Given the description of an element on the screen output the (x, y) to click on. 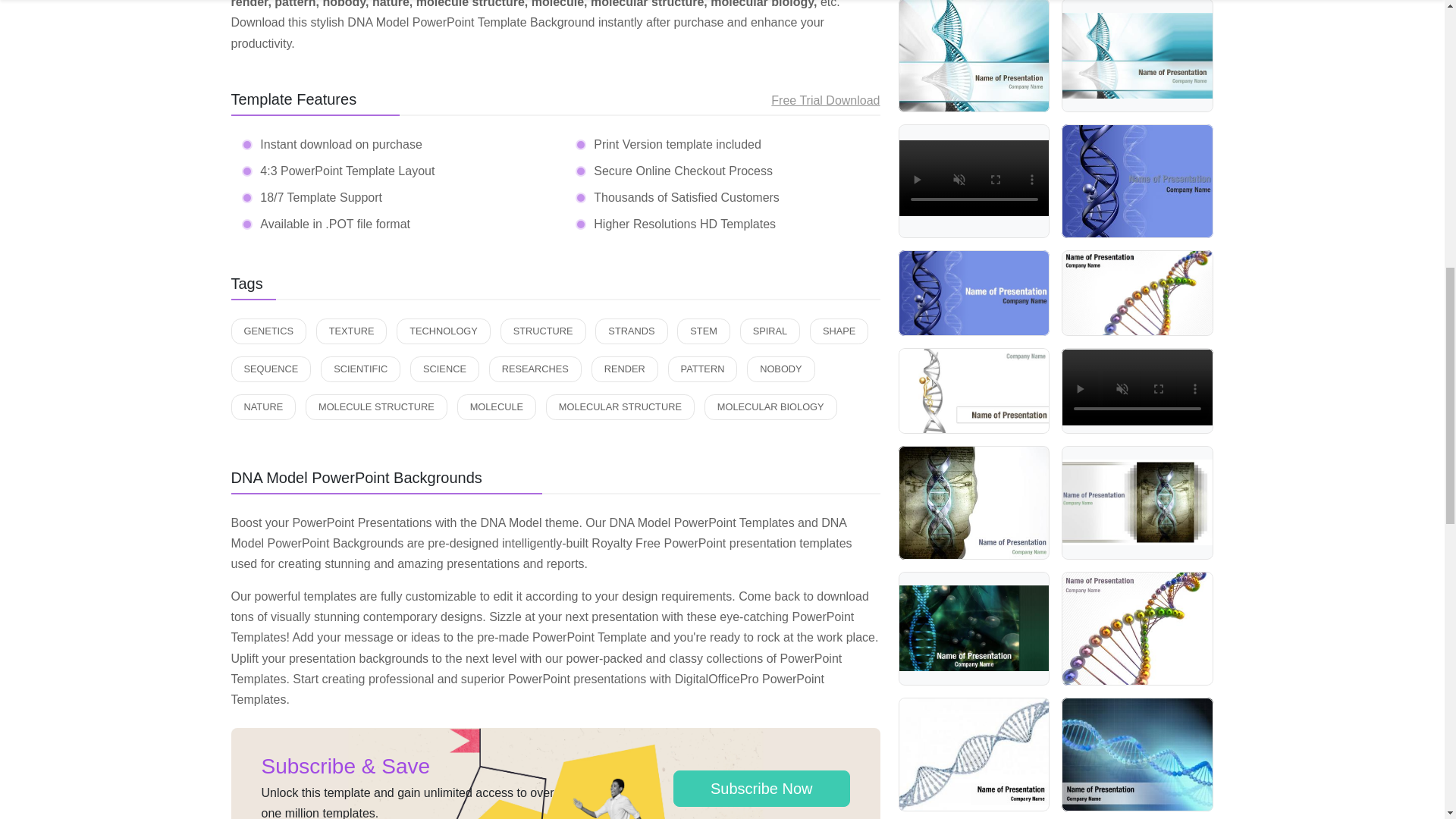
STRANDS (630, 330)
NOBODY (779, 369)
technology powerpoint templates (443, 330)
SPIRAL (769, 330)
stem powerpoint templates (703, 330)
STRUCTURE (543, 330)
TECHNOLOGY (443, 330)
SCIENTIFIC (360, 369)
Free Trial Download (825, 100)
sequence powerpoint templates (270, 369)
SCIENCE (444, 369)
nature powerpoint templates (262, 406)
science powerpoint templates (444, 369)
RENDER (624, 369)
render powerpoint templates (624, 369)
